Given the description of an element on the screen output the (x, y) to click on. 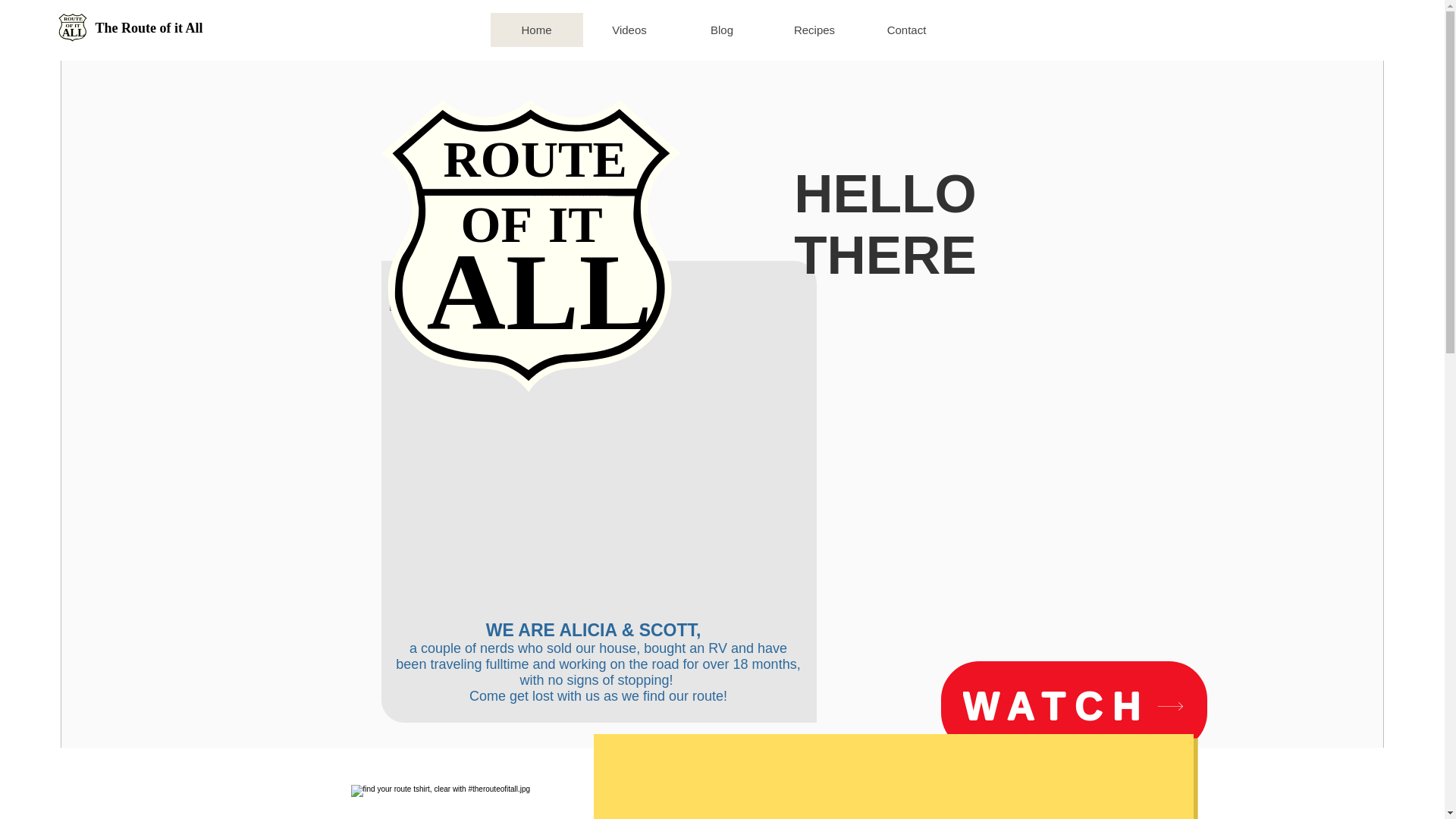
Home (72, 27)
Contact (529, 245)
WATCH (535, 29)
Blog (906, 29)
The Route of it All (1073, 705)
Videos (721, 29)
Recipes (148, 28)
